Given the description of an element on the screen output the (x, y) to click on. 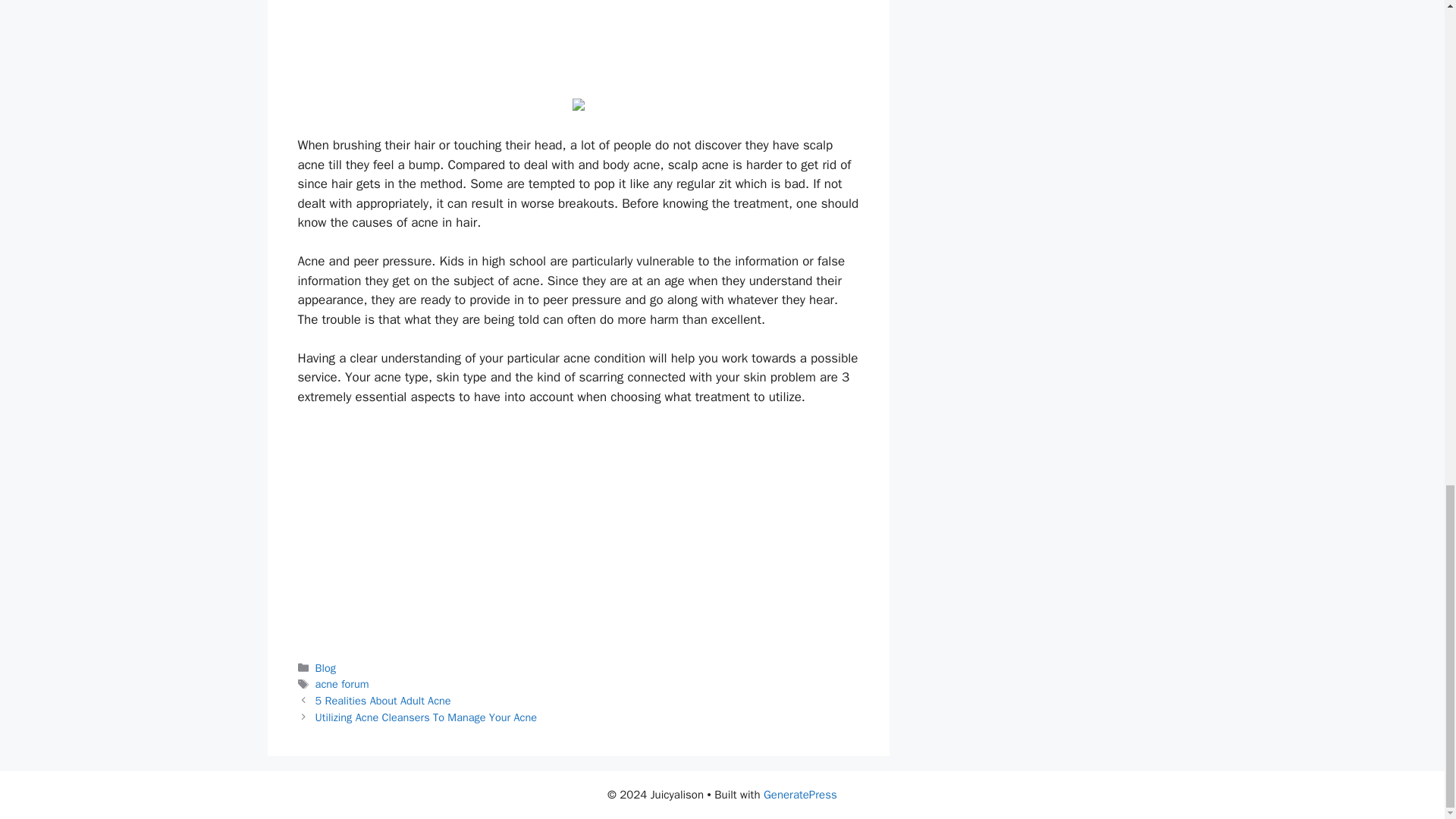
Advertisement (577, 43)
Advertisement (576, 531)
